Given the description of an element on the screen output the (x, y) to click on. 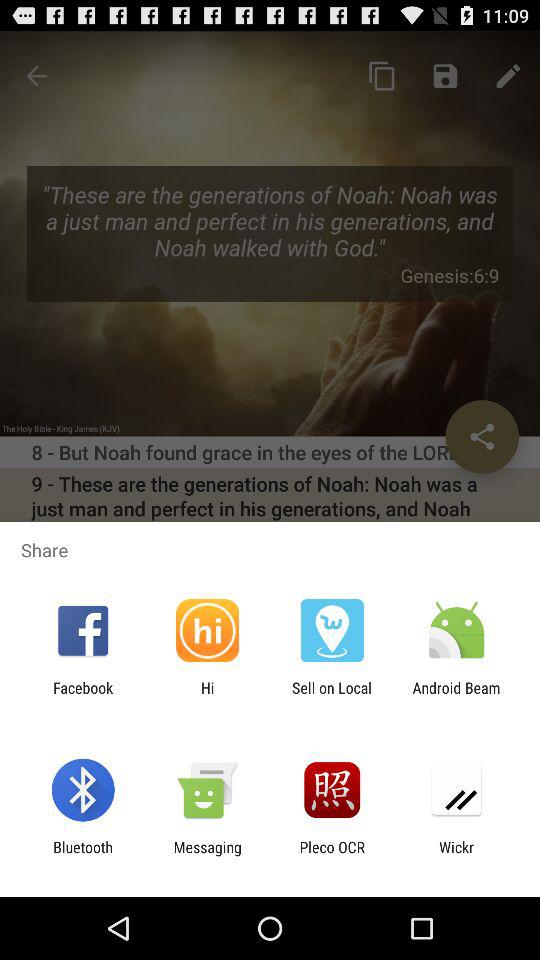
select icon to the right of the messaging (331, 856)
